Given the description of an element on the screen output the (x, y) to click on. 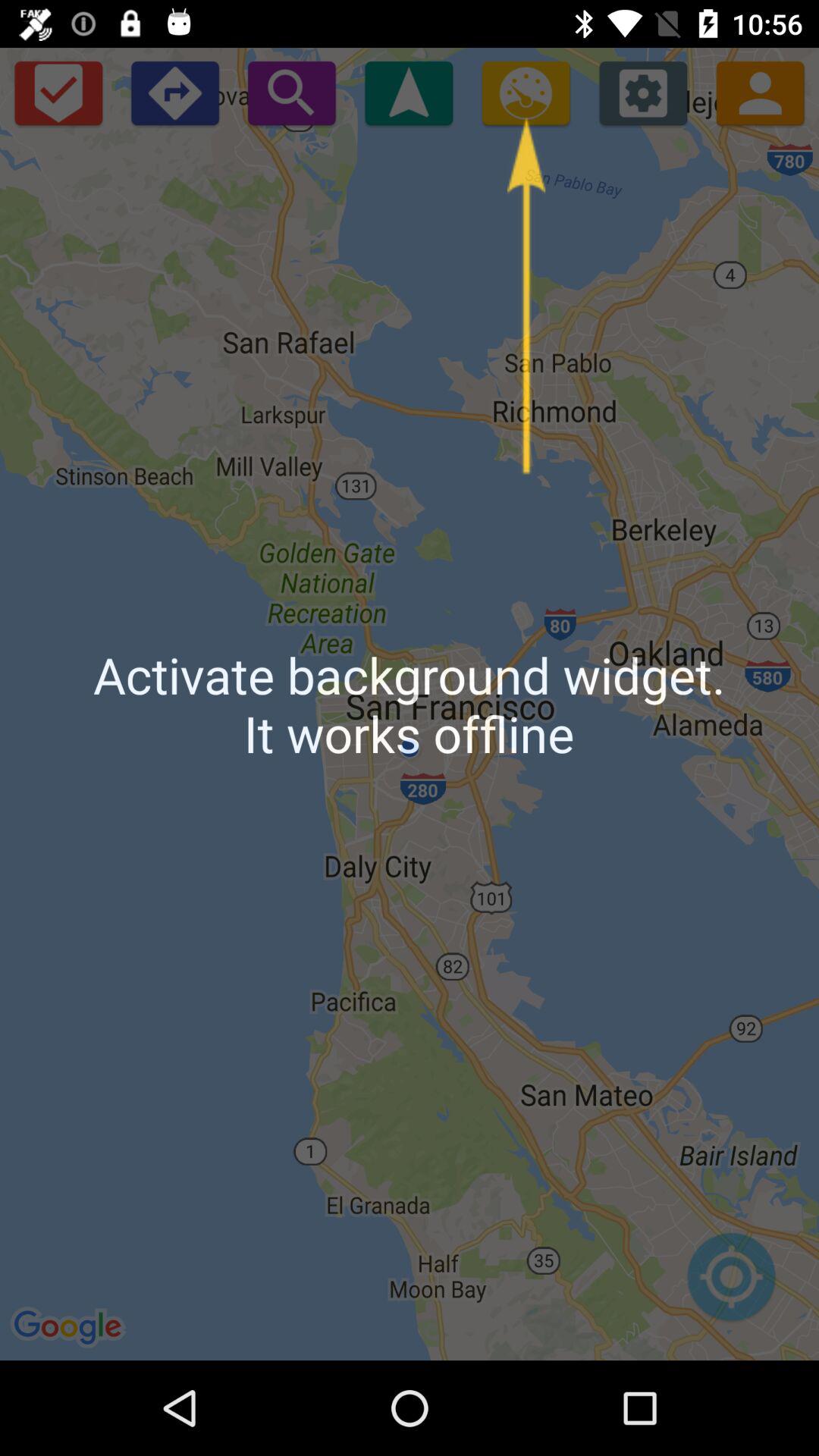
direction (174, 92)
